Given the description of an element on the screen output the (x, y) to click on. 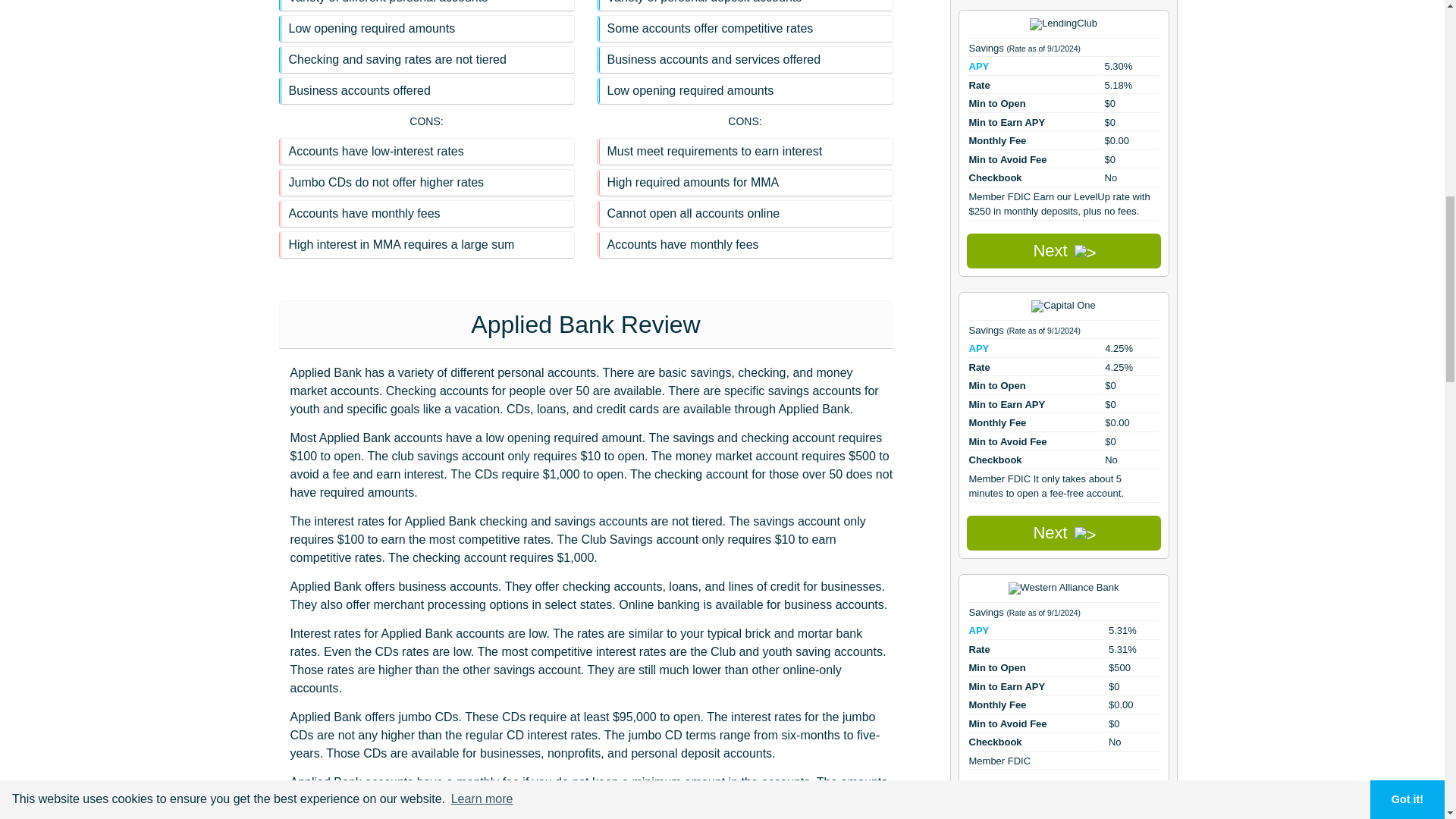
Next (1063, 250)
Next (1063, 532)
Next (1063, 799)
LendingClub (1063, 24)
Capital One (1063, 306)
Western Alliance Bank (1064, 588)
